Given the description of an element on the screen output the (x, y) to click on. 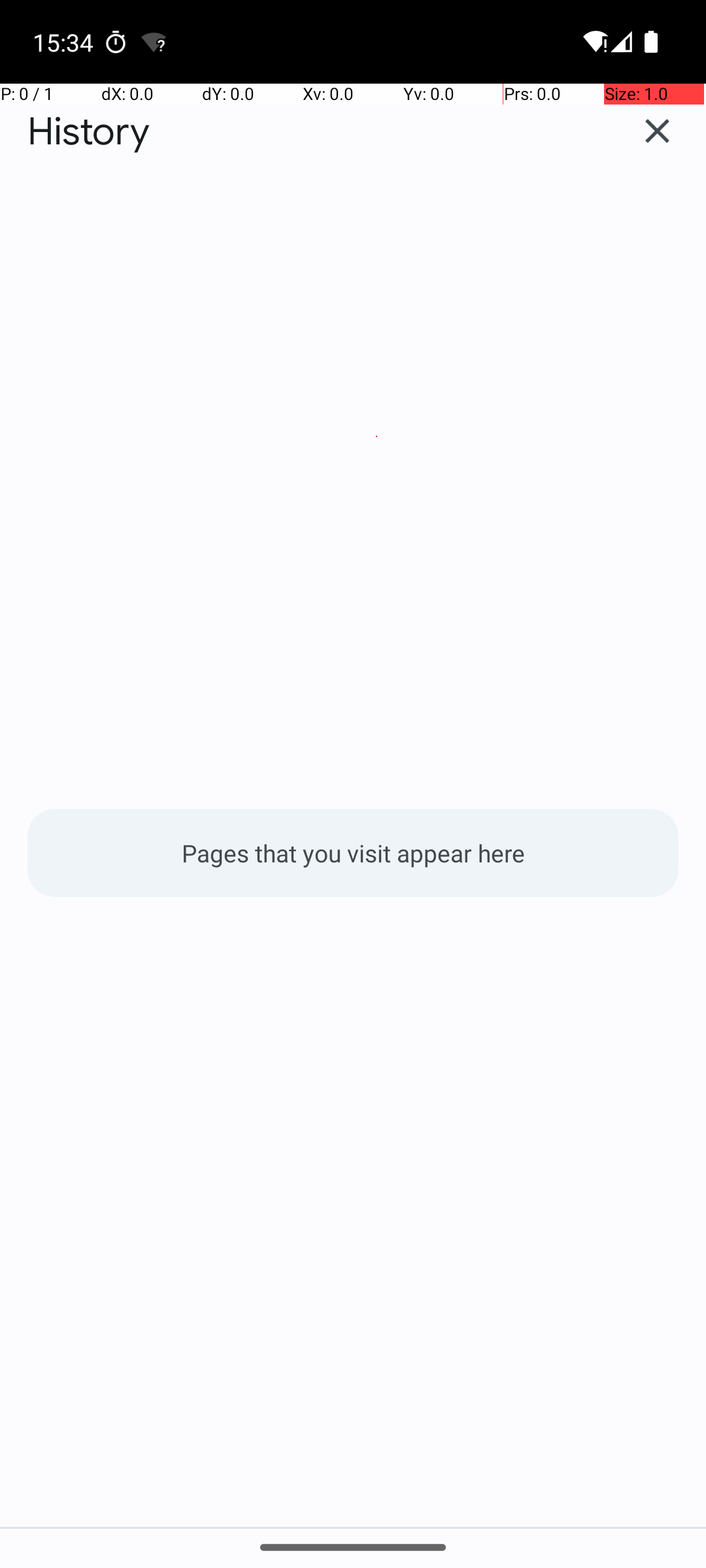
Pages that you visit appear here Element type: android.widget.TextView (352, 852)
